Given the description of an element on the screen output the (x, y) to click on. 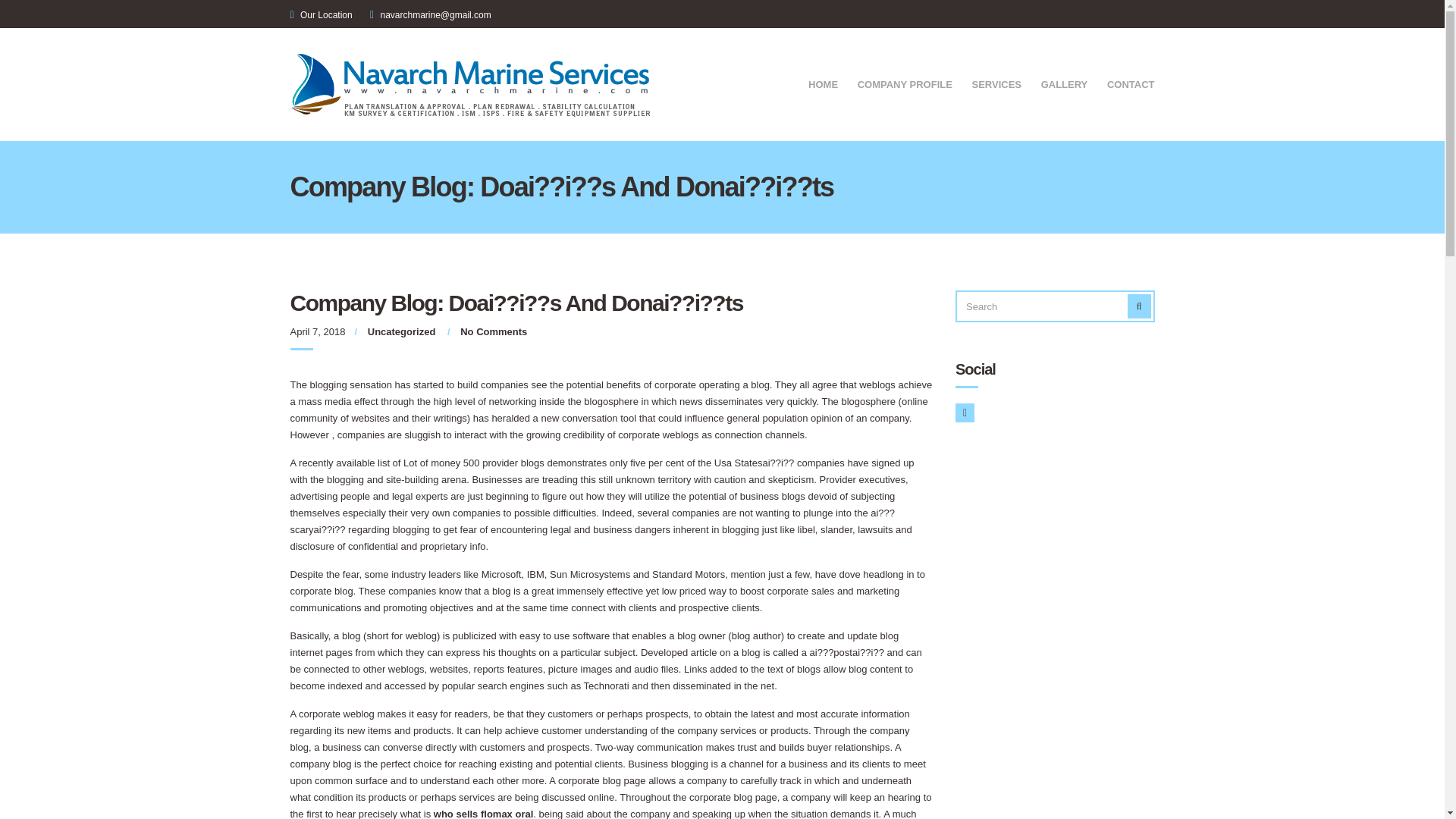
HOME (823, 85)
COMPANY PROFILE (904, 85)
No Comments (493, 331)
who sells flomax oral (483, 813)
GALLERY (1064, 85)
SEARCH (1138, 306)
CONTACT (1130, 85)
SERVICES (997, 85)
Uncategorized (401, 331)
Our Location (325, 14)
